Given the description of an element on the screen output the (x, y) to click on. 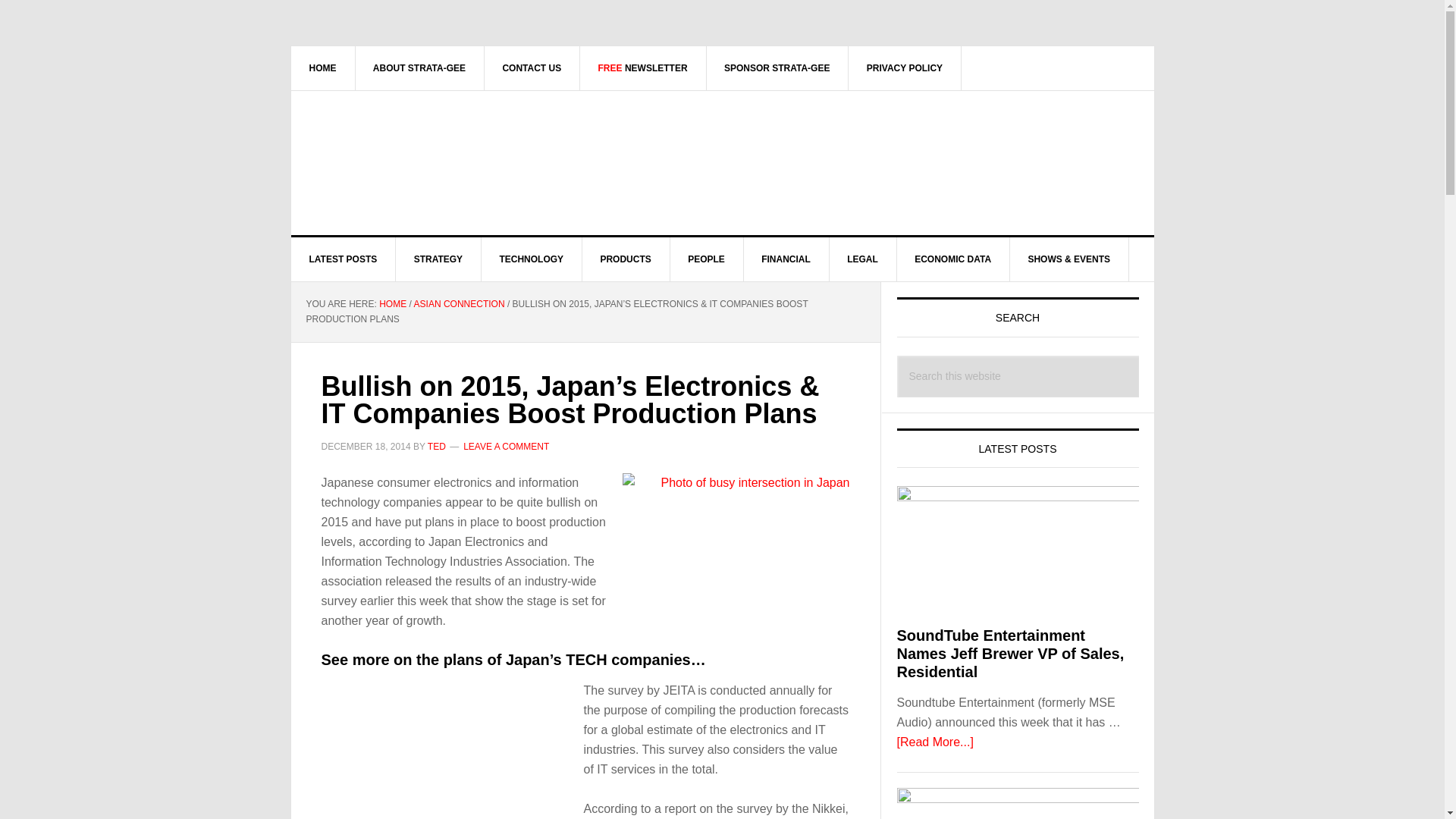
ABOUT STRATA-GEE (419, 67)
LEAVE A COMMENT (505, 446)
TED (436, 446)
STRATEGY (438, 259)
SPONSOR STRATA-GEE (777, 67)
PRIVACY POLICY (904, 67)
LEGAL (862, 259)
LATEST POSTS (343, 259)
PRODUCTS (624, 259)
